Given the description of an element on the screen output the (x, y) to click on. 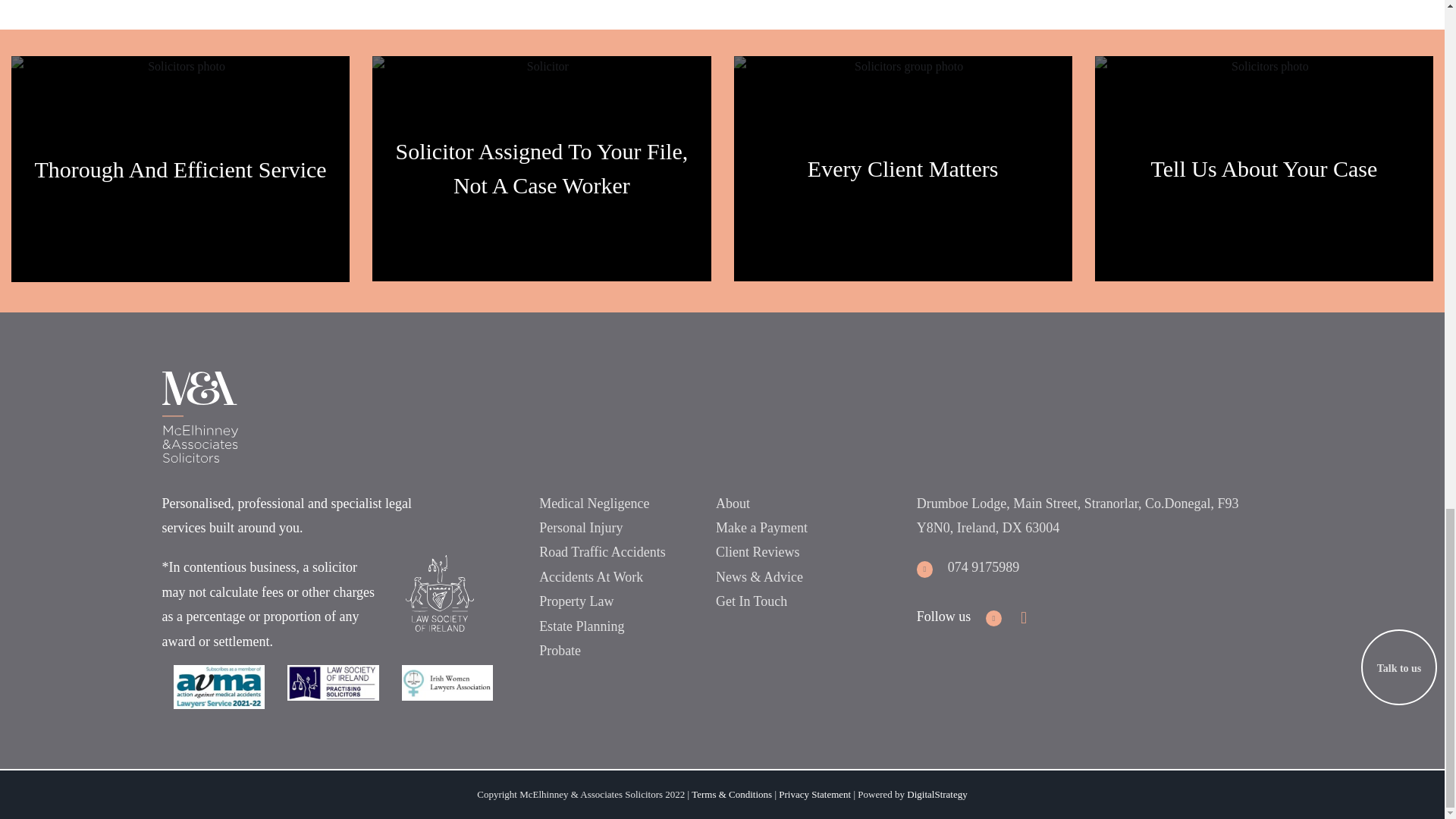
Probate (559, 650)
Client Reviews (757, 551)
Property Law (575, 601)
Tell Us About Your Case (1264, 168)
About (732, 503)
Estate Planning (581, 626)
074 9175989 (968, 566)
Accidents At Work (590, 576)
Get In Touch (751, 601)
Road Traffic Accidents (601, 551)
Personal Injury (580, 527)
Make a Payment (762, 527)
Medical Negligence (593, 503)
